Given the description of an element on the screen output the (x, y) to click on. 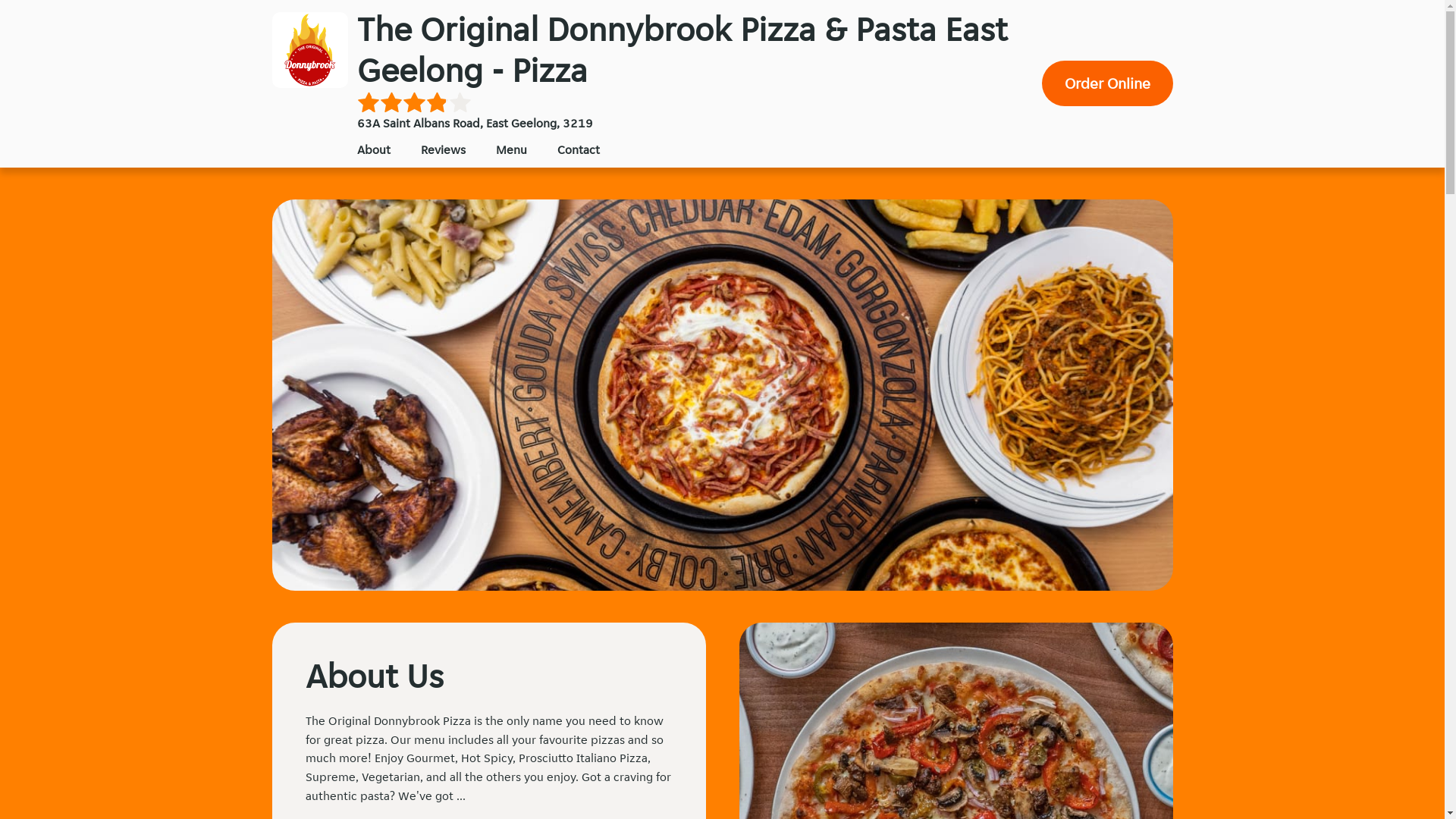
Menu Element type: text (511, 149)
Order Online Element type: text (1107, 83)
Contact Element type: text (577, 149)
The Original Donnybrook Pizza & Pasta East Geelong Element type: hover (309, 49)
Reviews Element type: text (442, 149)
About Element type: text (372, 149)
